Given the description of an element on the screen output the (x, y) to click on. 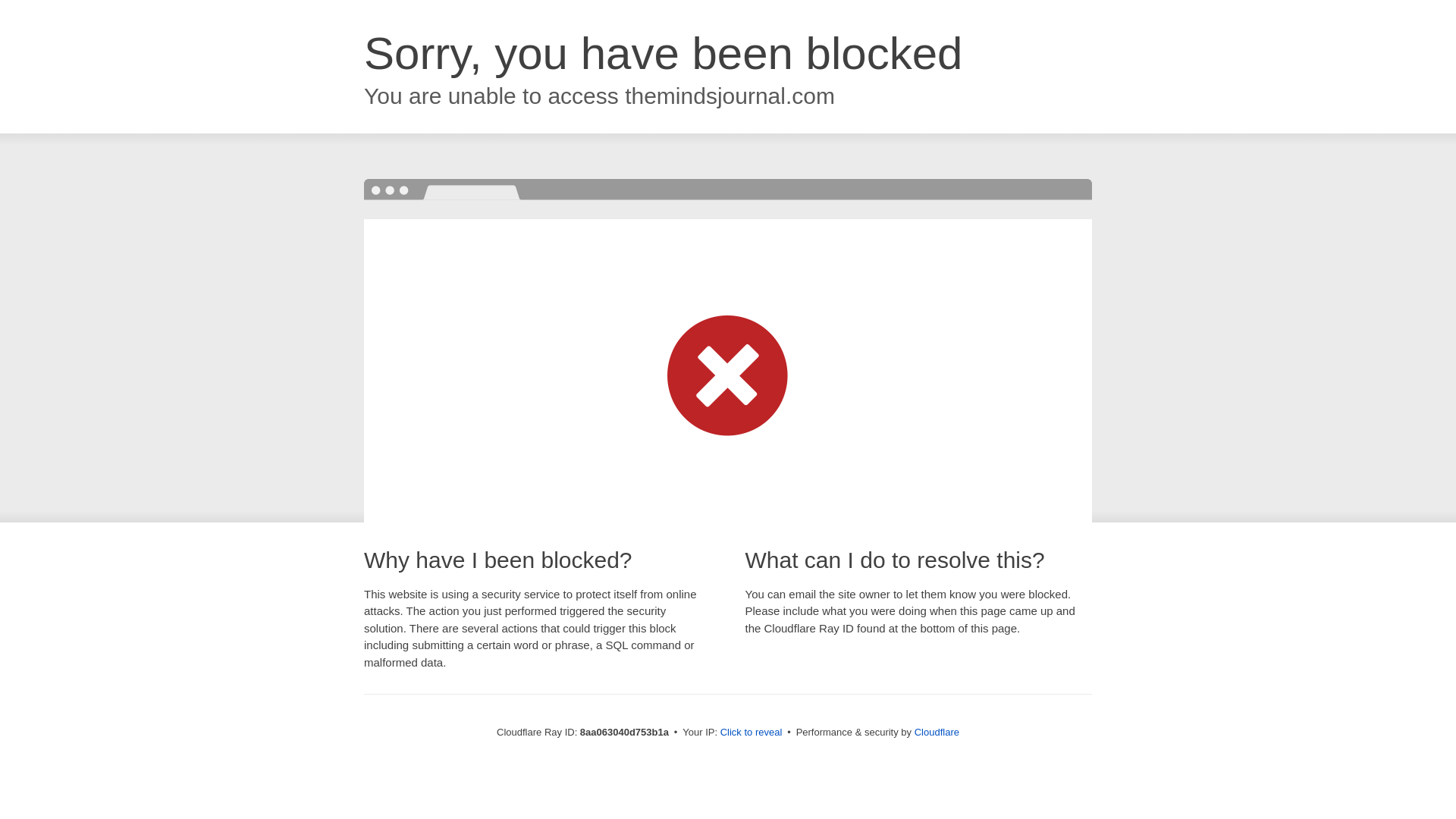
Cloudflare (936, 731)
Click to reveal (751, 732)
